Given the description of an element on the screen output the (x, y) to click on. 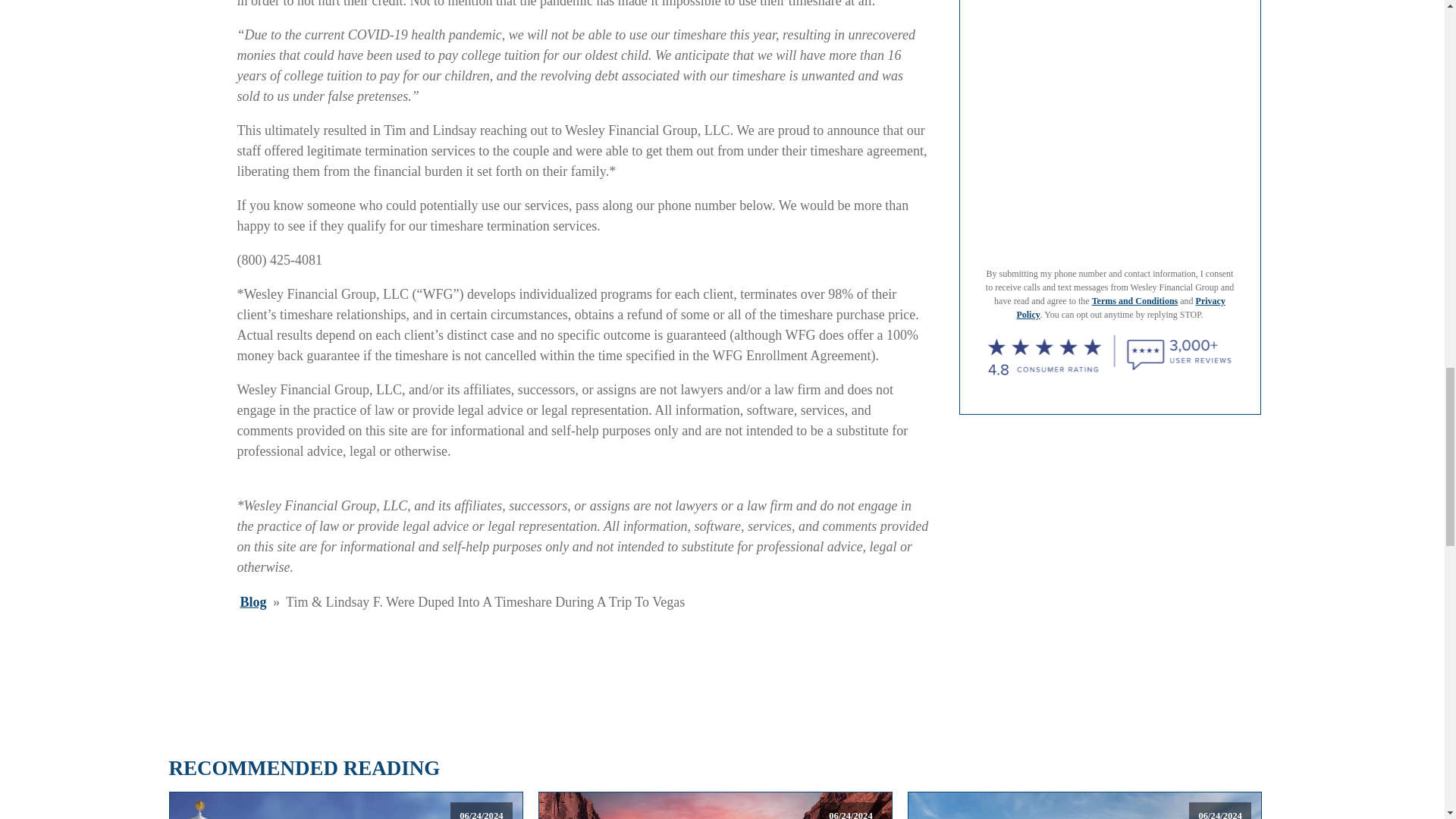
Privacy Policy (1120, 307)
Blog (253, 601)
Terms and Conditions (1134, 300)
Breadcrumb link to Blog (253, 601)
